Given the description of an element on the screen output the (x, y) to click on. 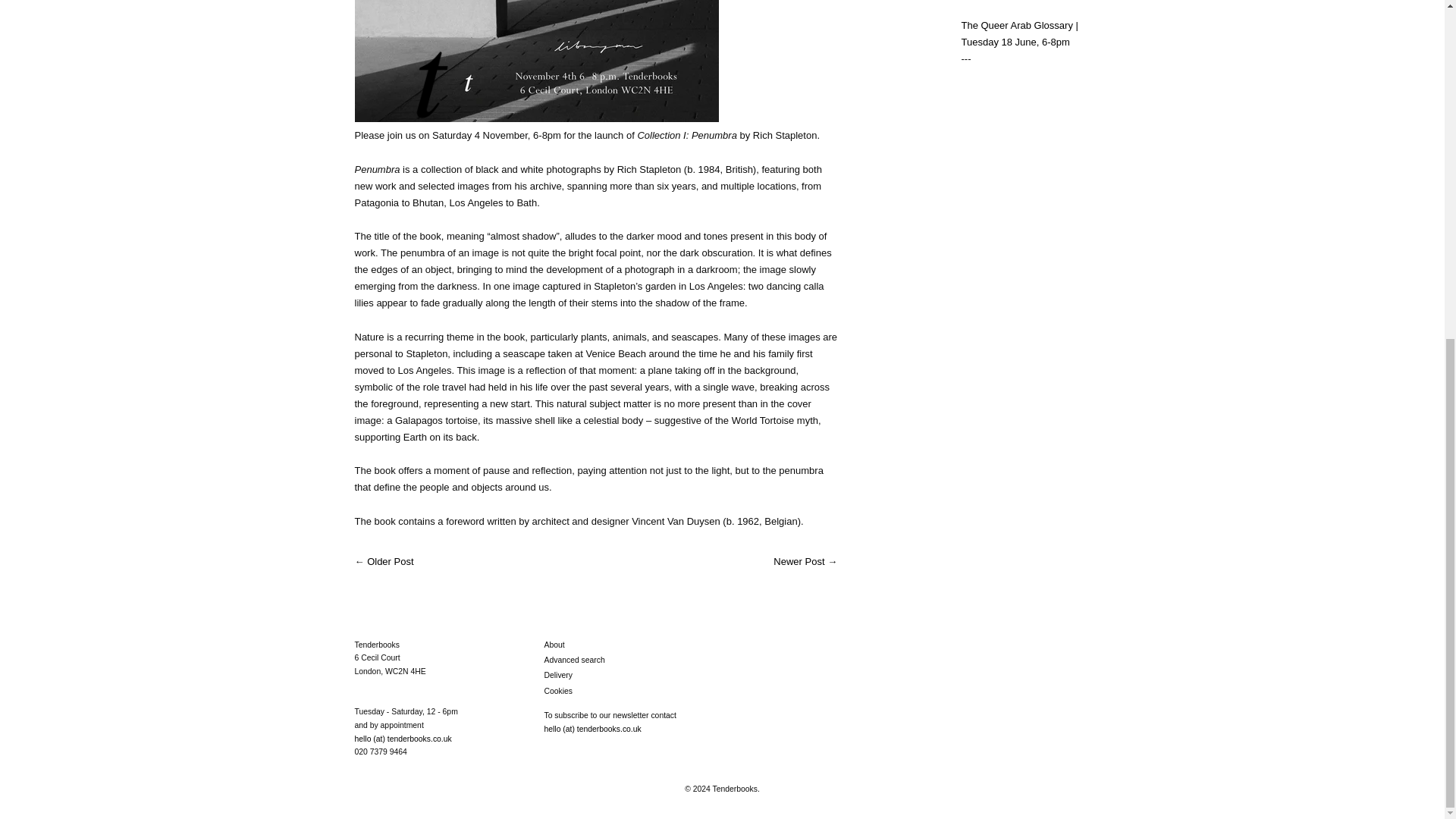
Older Post (389, 561)
